Given the description of an element on the screen output the (x, y) to click on. 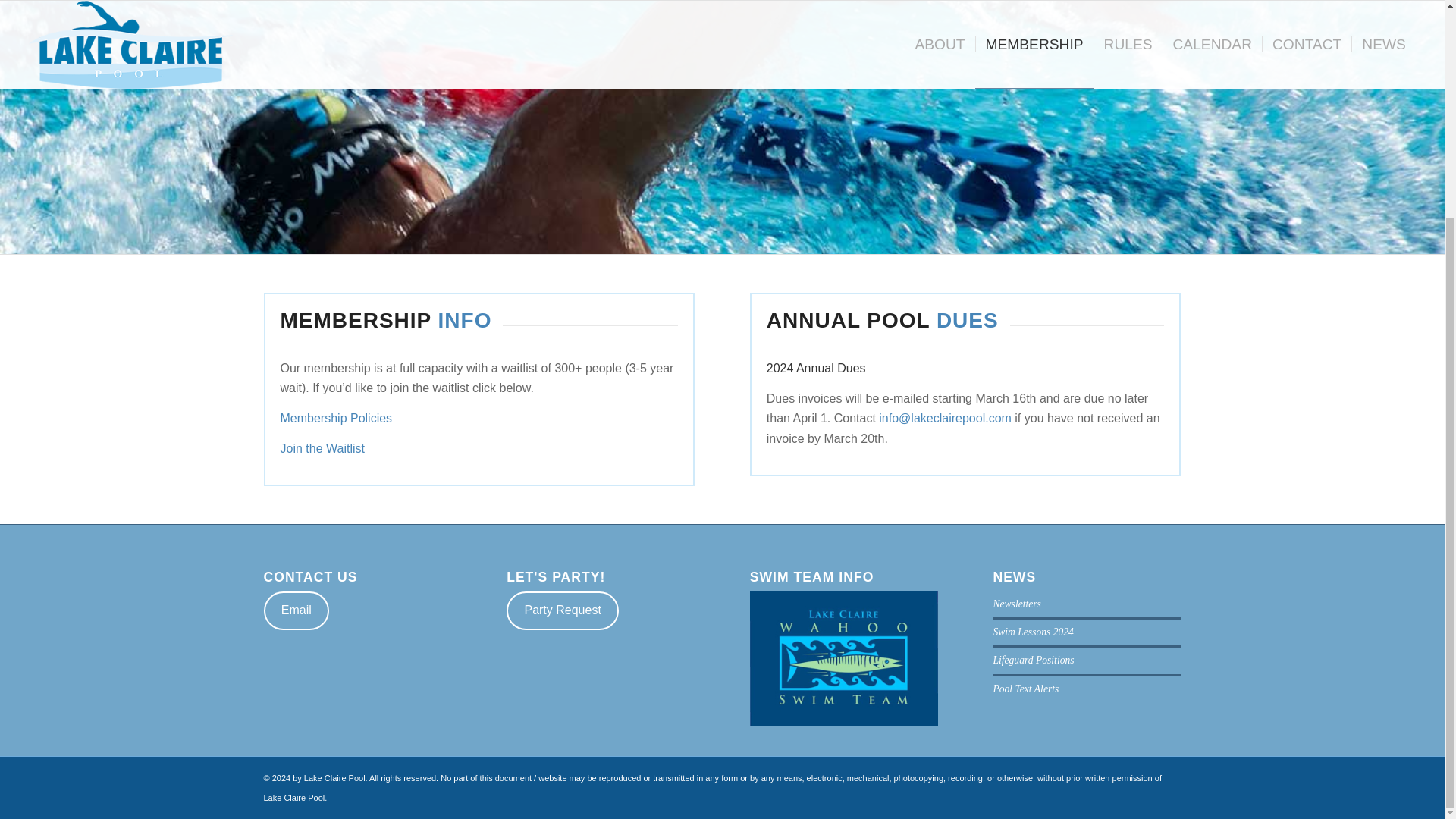
Newsletters (1016, 603)
JOIN SWIM TEAM (843, 659)
Pool Text Alerts (1025, 688)
Join the Waitlist (323, 448)
Party Request (562, 610)
Swim Lessons 2024 (1033, 632)
Email (296, 610)
Membership Policies (337, 418)
Lifeguard Positions (1033, 659)
